Given the description of an element on the screen output the (x, y) to click on. 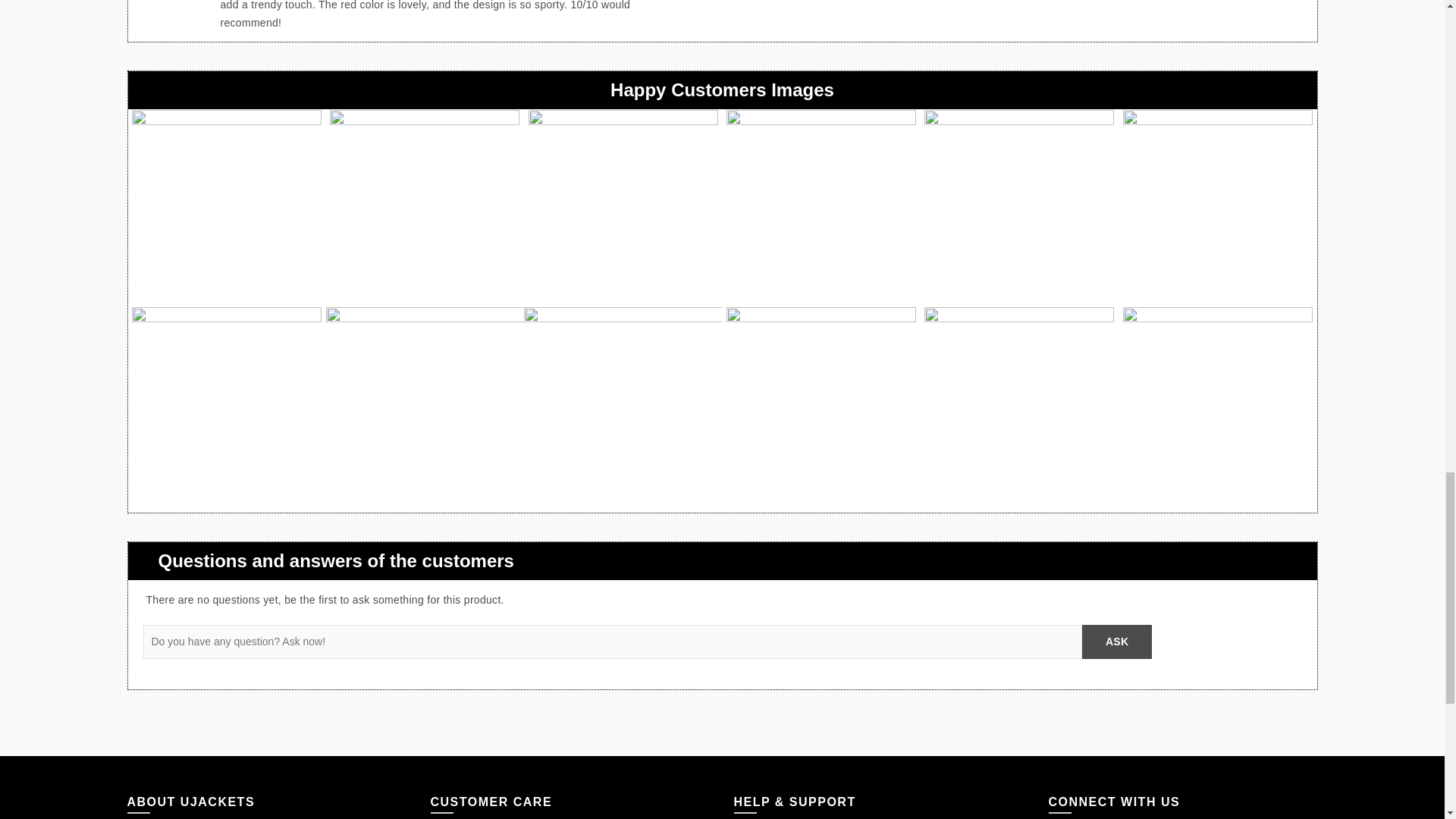
Ask (1116, 641)
Ask your question (1116, 641)
